Given the description of an element on the screen output the (x, y) to click on. 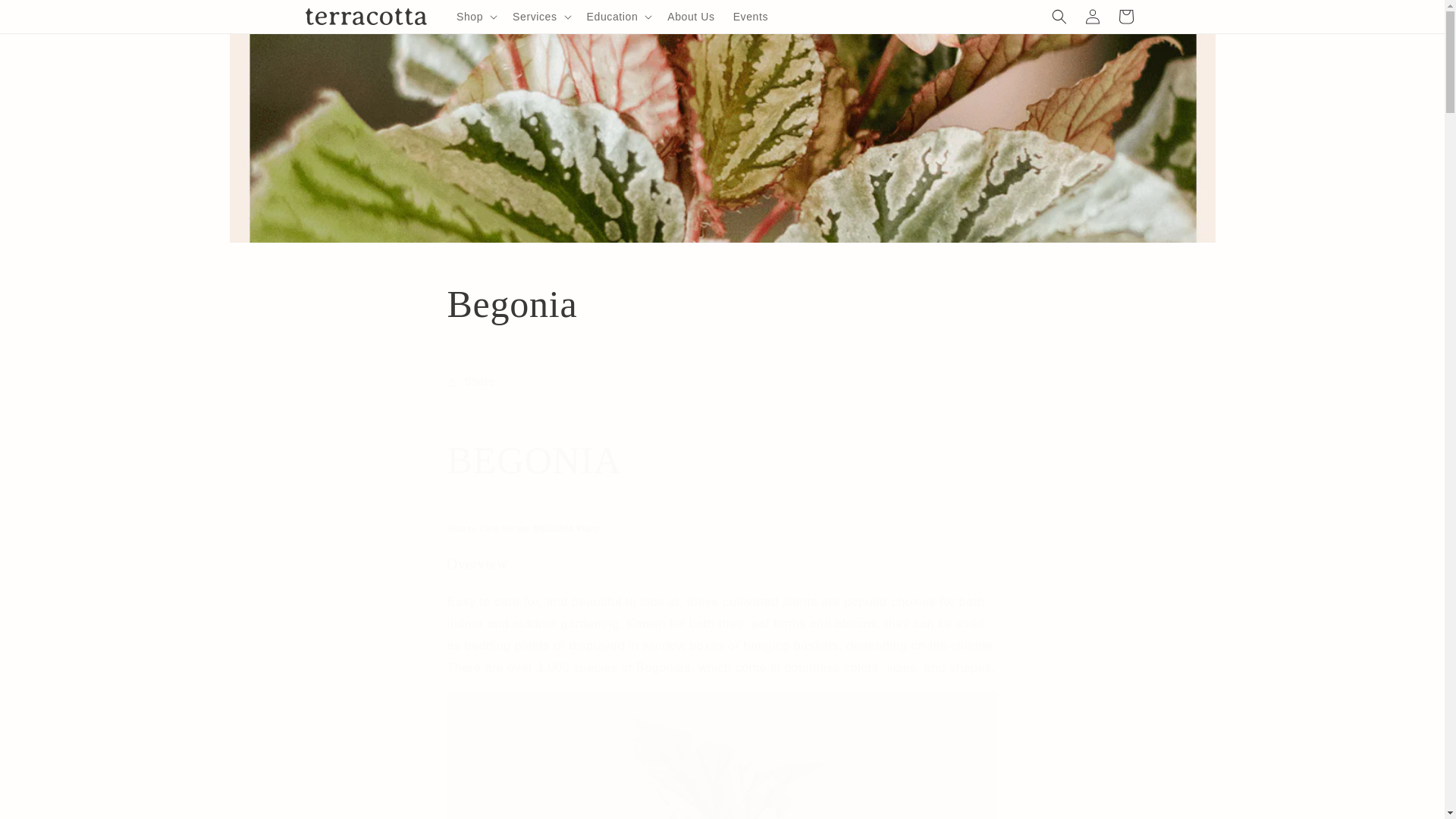
Begonia (721, 303)
Events (750, 16)
Cart (1124, 16)
About Us (690, 16)
Skip to content (45, 17)
Log in (1091, 16)
Share (721, 381)
